Given the description of an element on the screen output the (x, y) to click on. 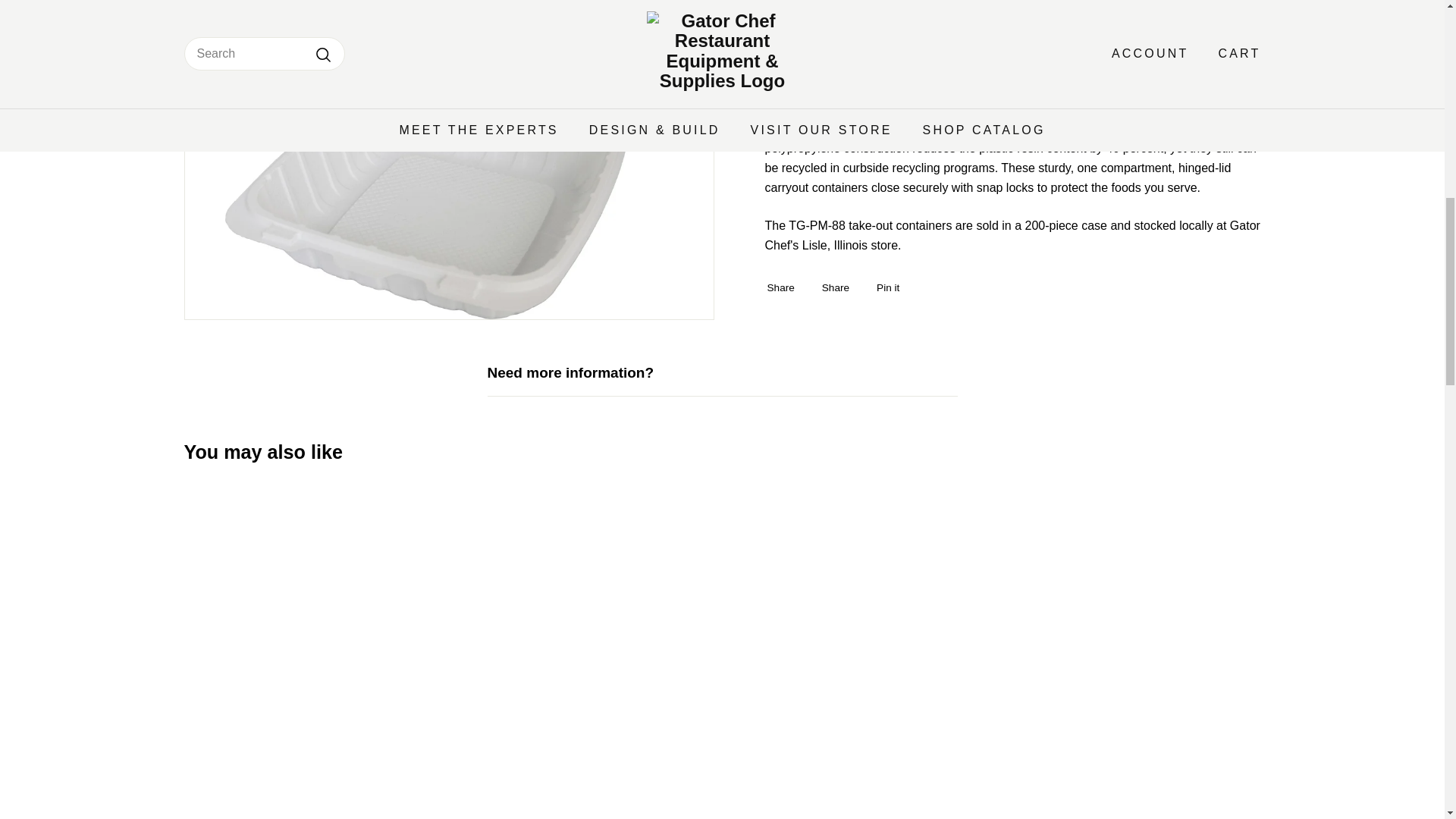
Tweet on Twitter (839, 287)
Share on Facebook (784, 287)
Pin on Pinterest (893, 287)
